Given the description of an element on the screen output the (x, y) to click on. 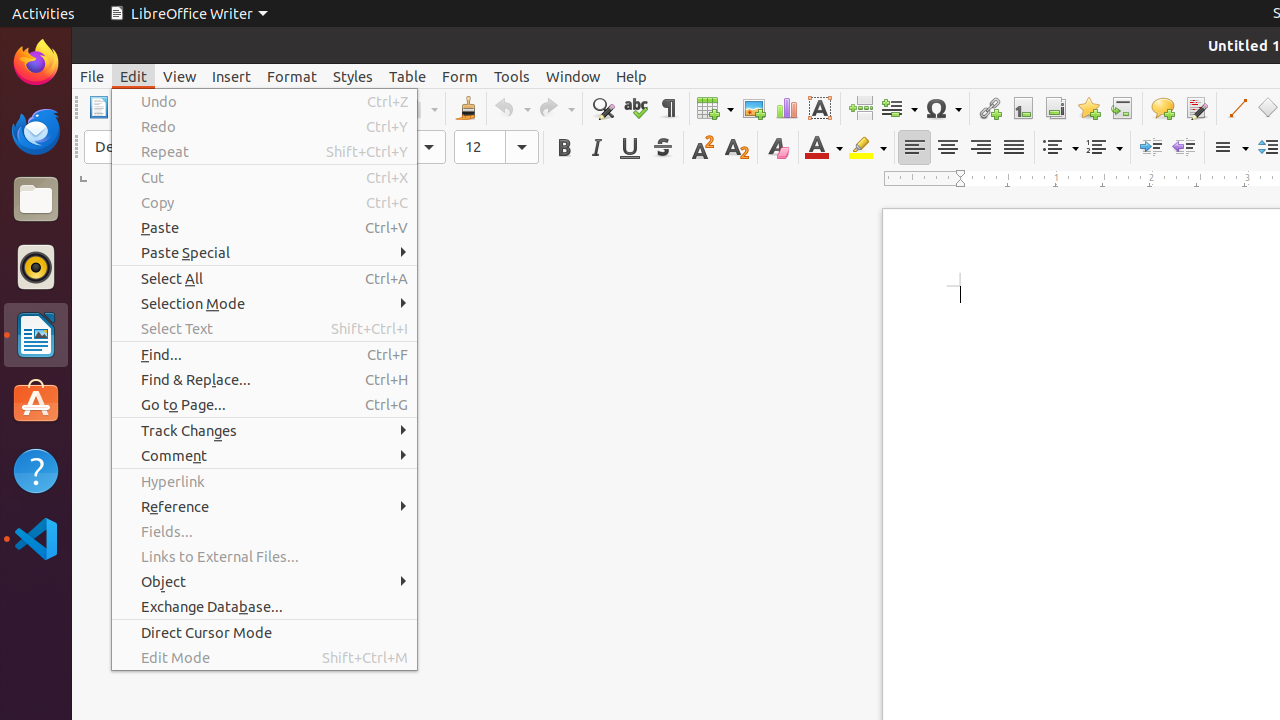
LibreOffice Writer Element type: push-button (36, 334)
Rhythmbox Element type: push-button (36, 267)
Repeat Element type: menu-item (264, 151)
Redo Element type: push-button (556, 108)
Font Size Element type: combo-box (496, 147)
